Given the description of an element on the screen output the (x, y) to click on. 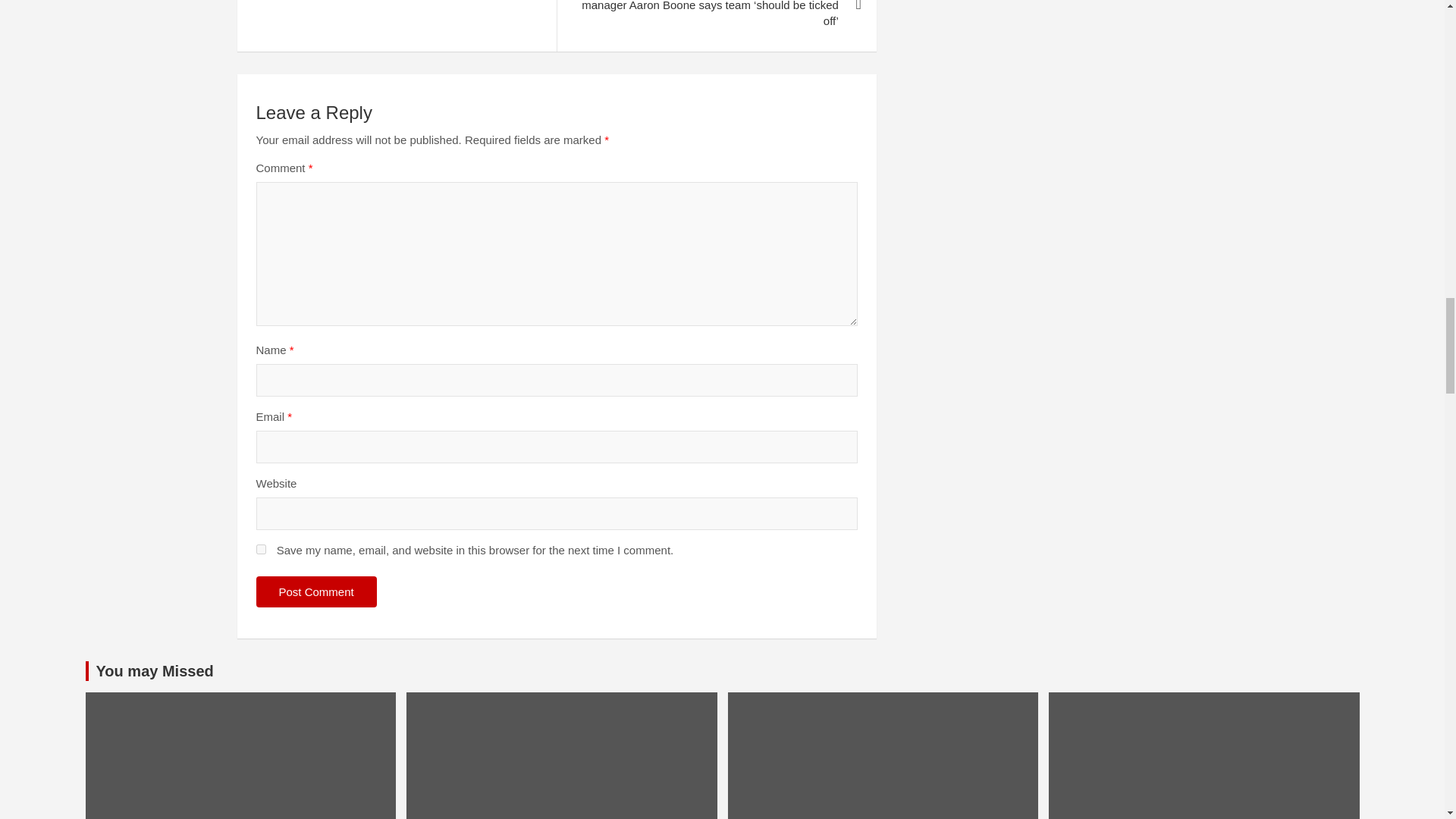
Post Comment (316, 591)
yes (261, 549)
